Given the description of an element on the screen output the (x, y) to click on. 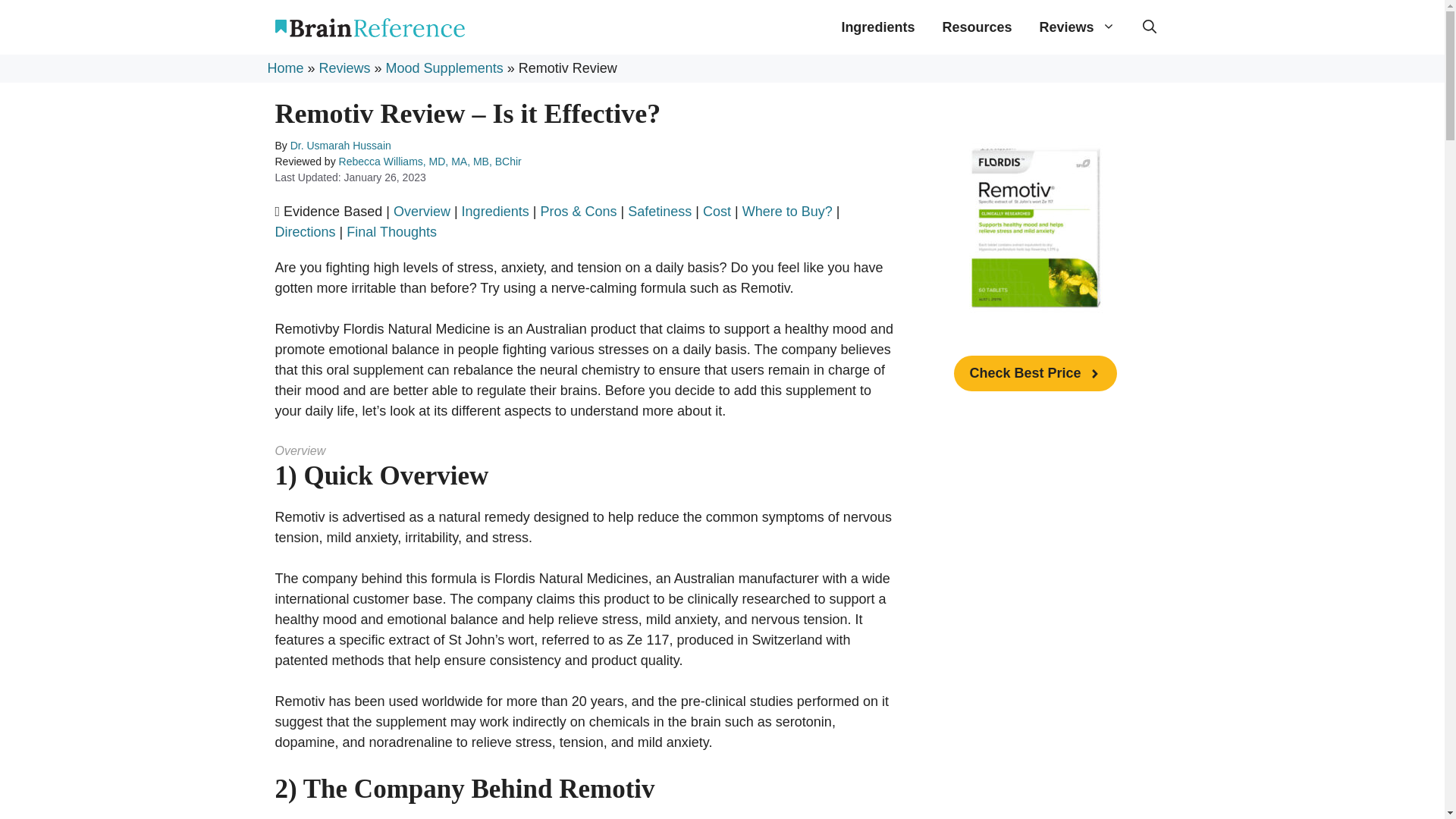
Directions (304, 231)
Reviews (344, 68)
Overview (421, 211)
Dr. Usmarah Hussain (340, 145)
Rebecca Williams, MD, MA, MB, BChir (430, 161)
Reviews (1076, 26)
Safetiness (659, 211)
Ingredients (877, 26)
Ingredients (495, 211)
Where to Buy? (787, 211)
Final Thoughts (391, 231)
Home (284, 68)
Cost (716, 211)
Mood Supplements (444, 68)
Resources (976, 26)
